Given the description of an element on the screen output the (x, y) to click on. 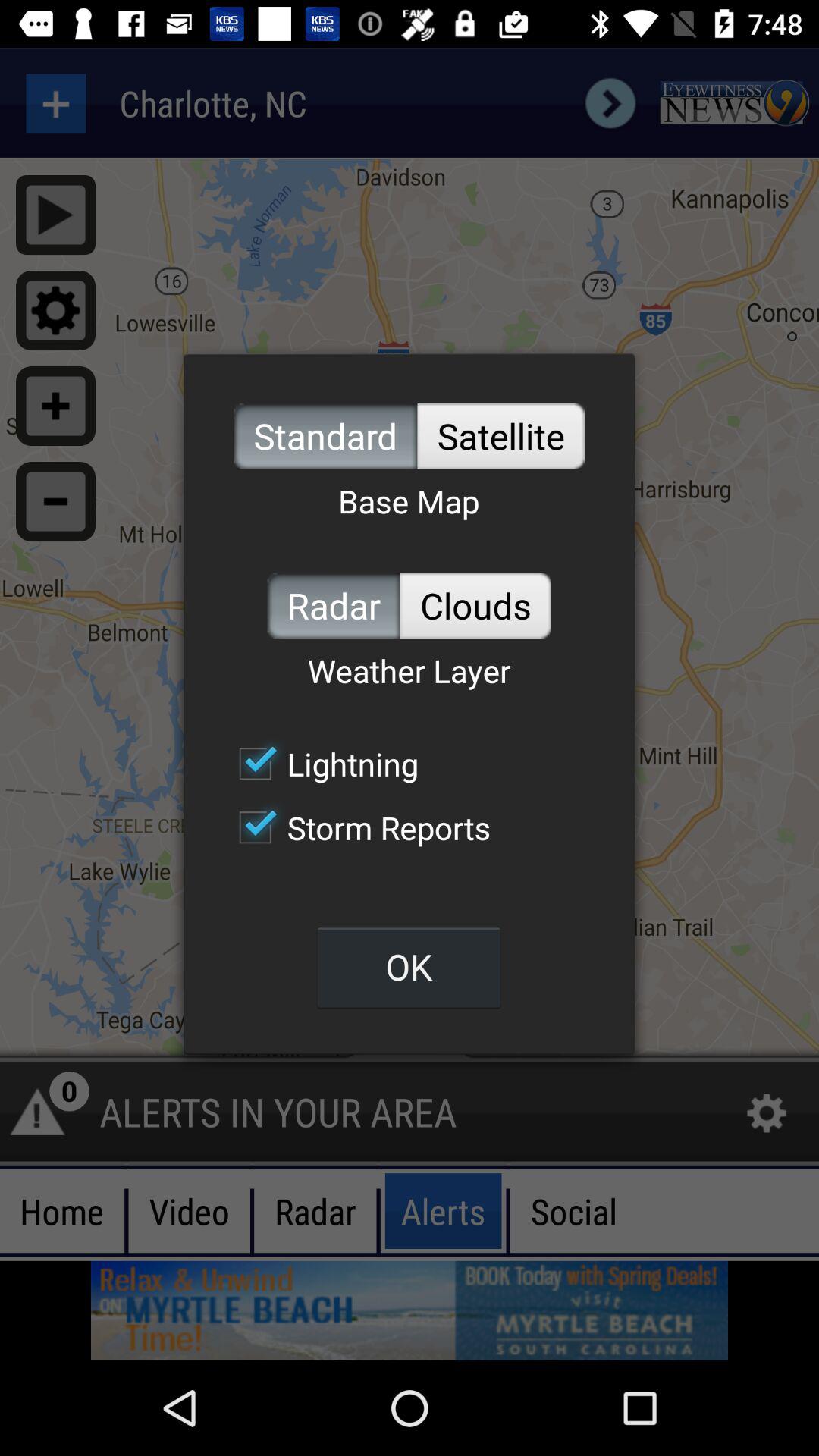
turn off the icon next to clouds (333, 605)
